Given the description of an element on the screen output the (x, y) to click on. 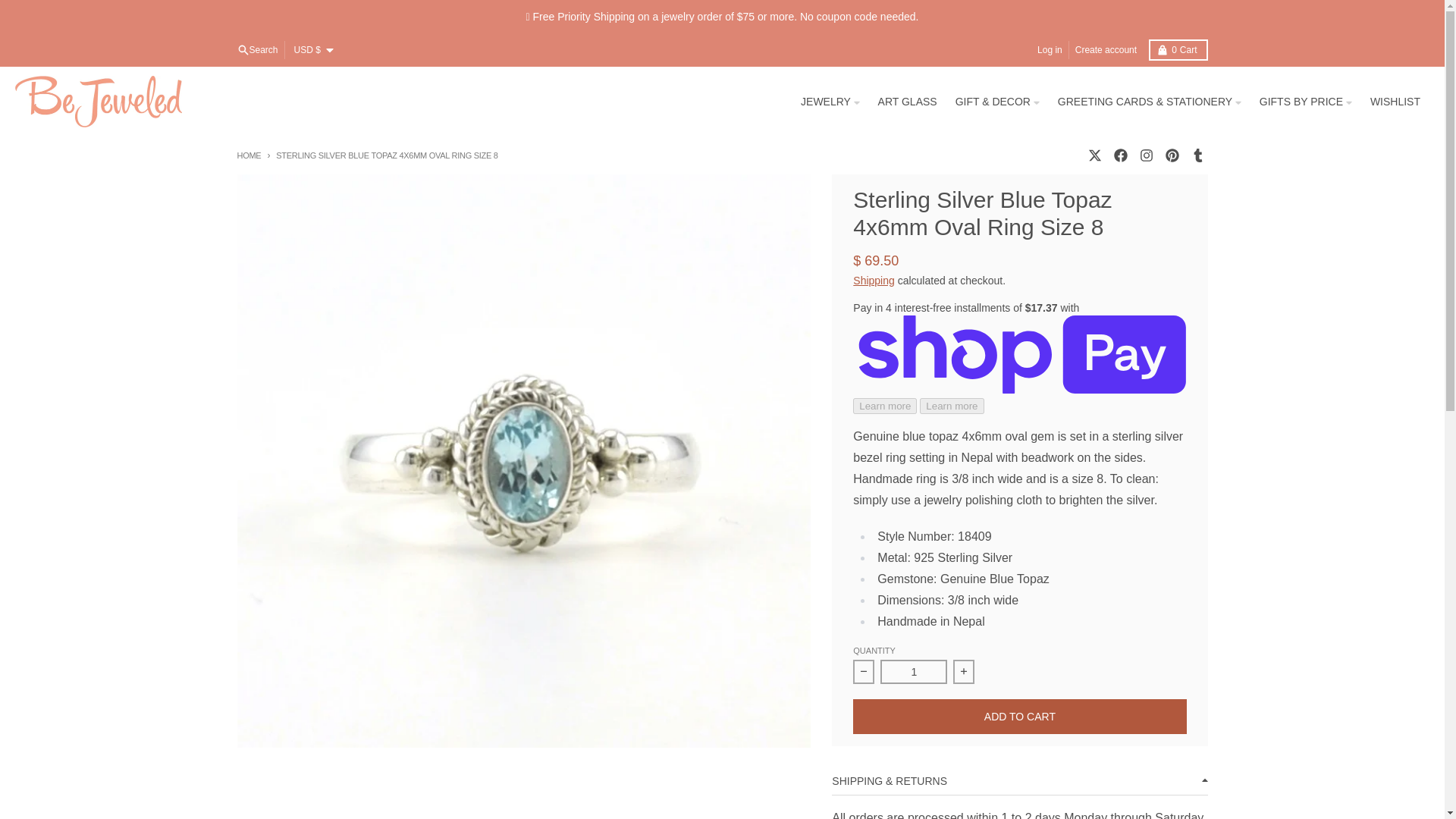
Twitter - BeJeweled (1093, 155)
Tumblr - BeJeweled (1197, 155)
1 (913, 671)
Create account (1105, 49)
Log in (1049, 49)
Facebook - BeJeweled (1119, 155)
Pinterest - BeJeweled (1170, 155)
Search (1177, 49)
Back to the homepage (256, 49)
Instagram - BeJeweled (247, 153)
